Given the description of an element on the screen output the (x, y) to click on. 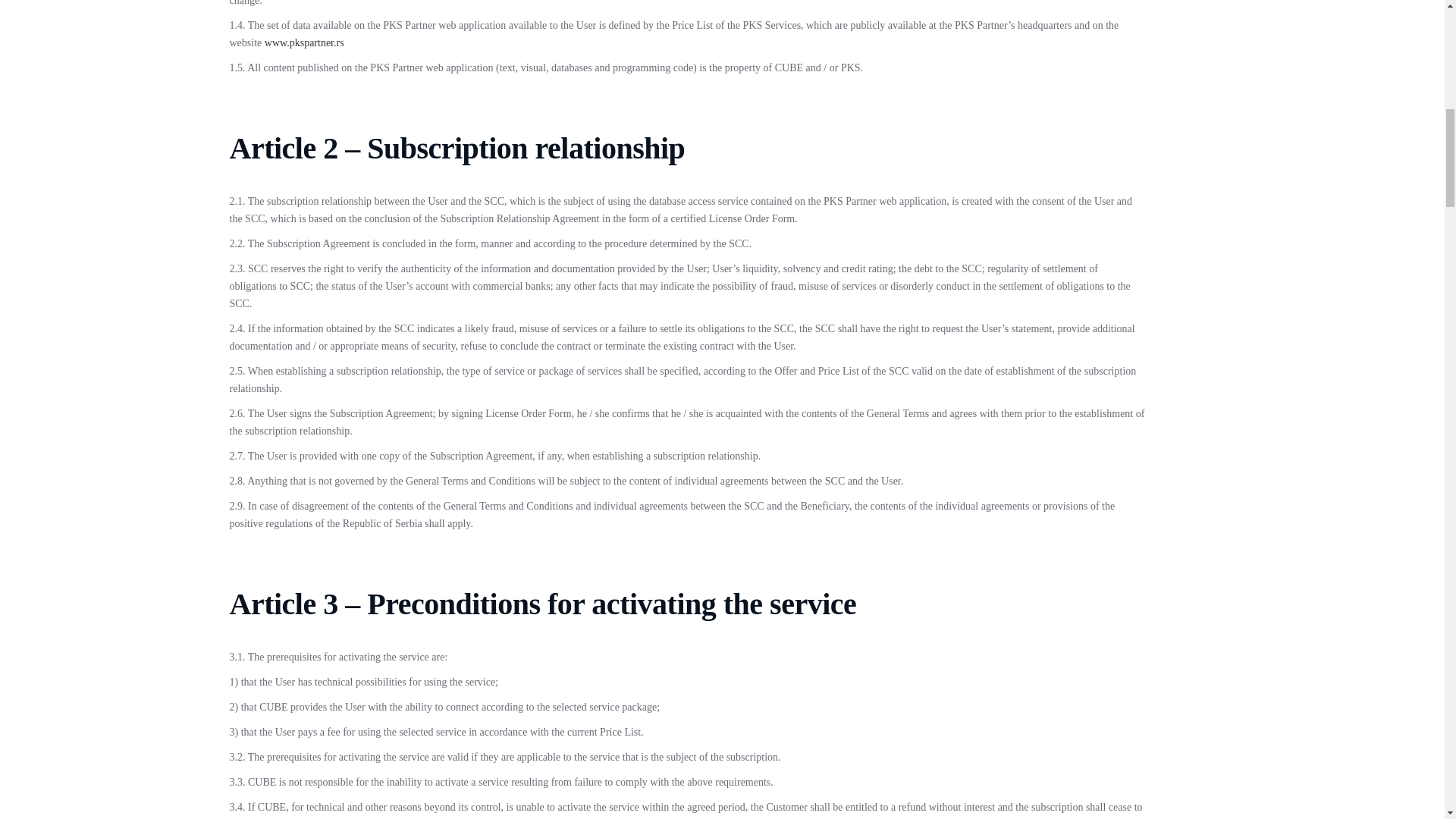
www.pkspartner.rs (303, 42)
